Given the description of an element on the screen output the (x, y) to click on. 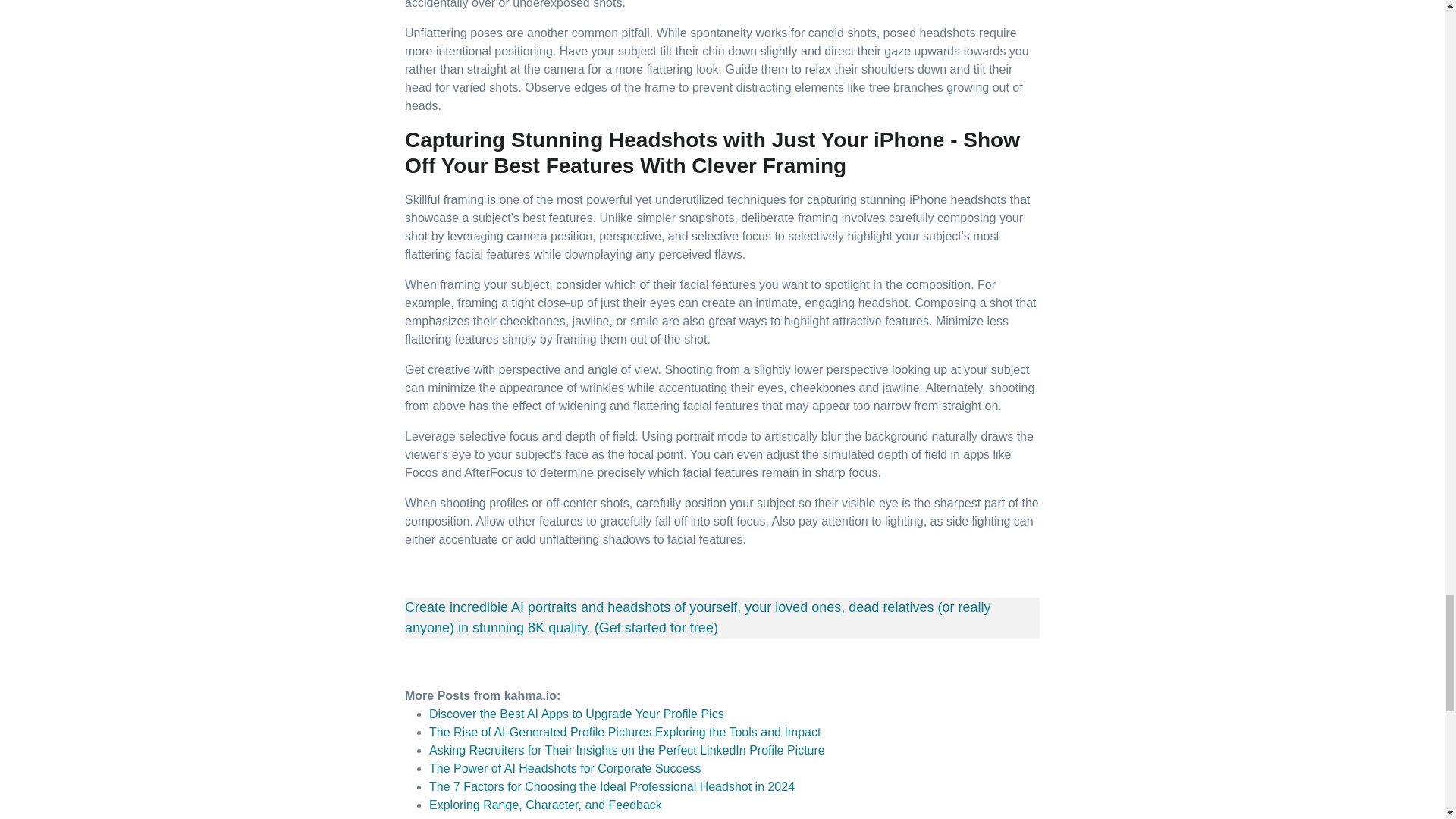
Discover the Best AI Apps to Upgrade Your Profile Pics (576, 713)
Exploring Range, Character, and Feedback (545, 804)
The Power of AI Headshots for Corporate Success (564, 768)
